Given the description of an element on the screen output the (x, y) to click on. 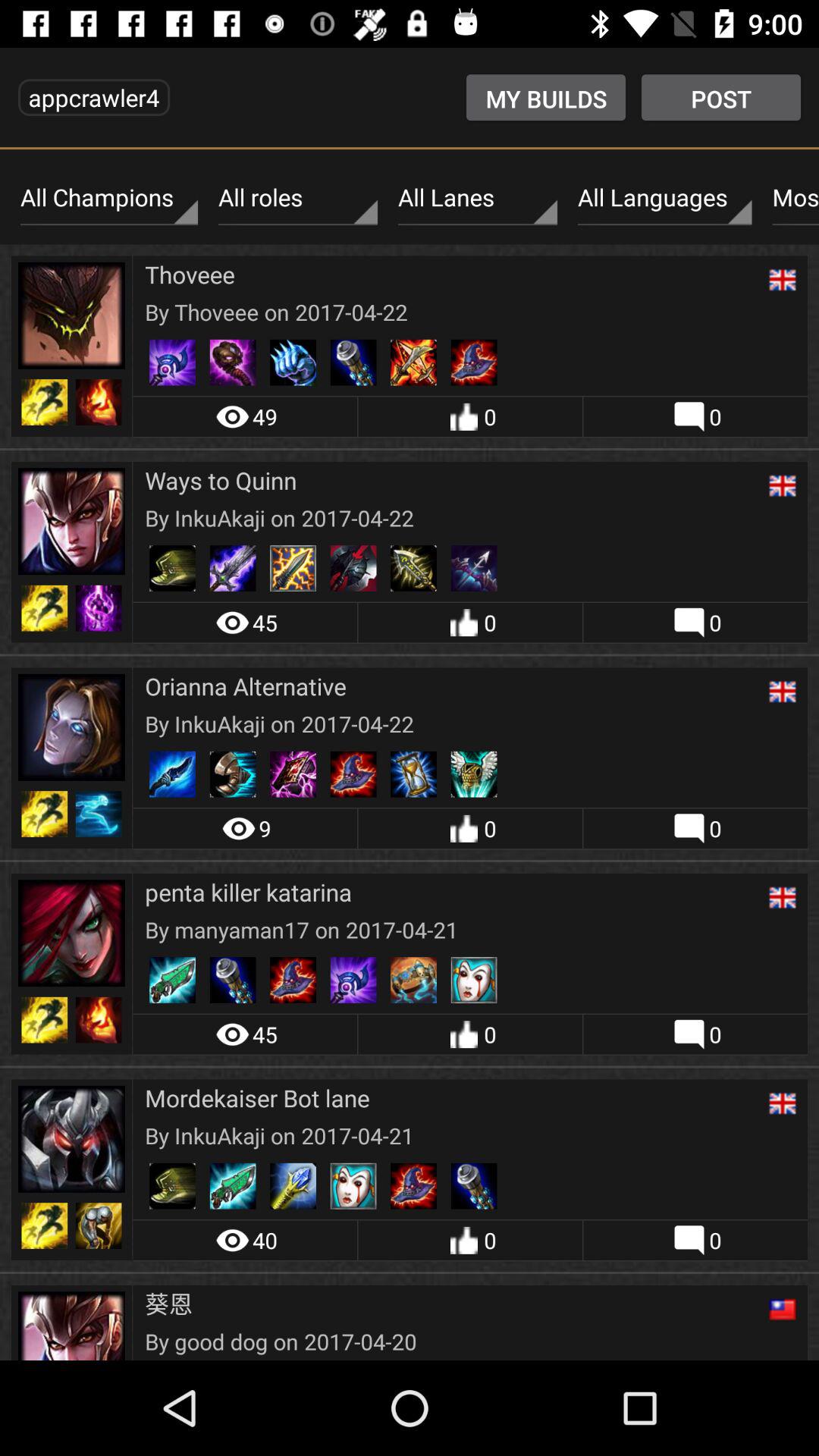
select item next to all roles icon (108, 198)
